Given the description of an element on the screen output the (x, y) to click on. 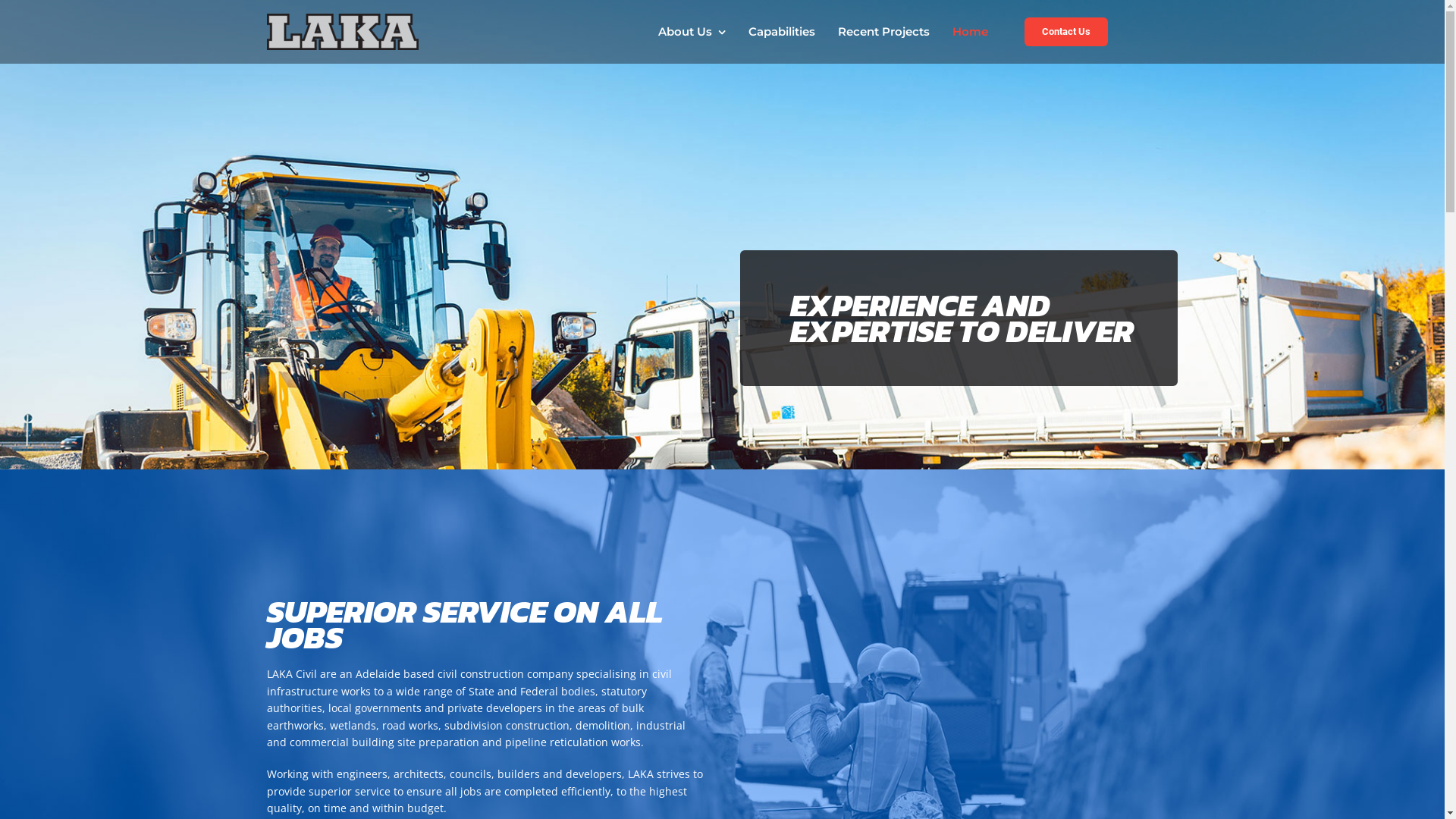
Home Element type: text (970, 31)
Capabilities Element type: text (781, 31)
About Us Element type: text (691, 31)
Contact Us Element type: text (1065, 31)
Recent Projects Element type: text (883, 31)
